Given the description of an element on the screen output the (x, y) to click on. 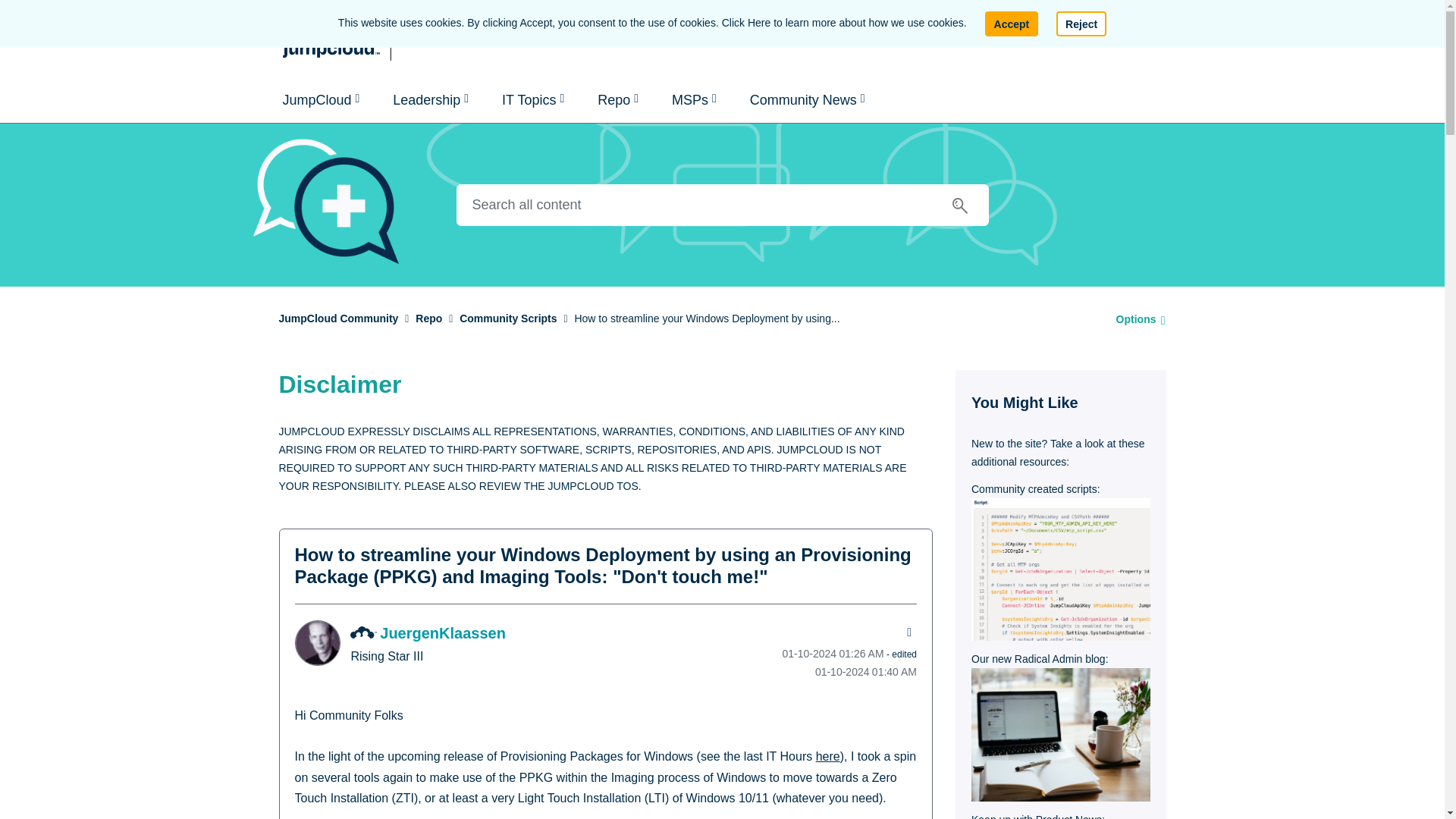
Reject (1081, 23)
JuergenKlaassen (316, 642)
Accept (1012, 23)
JumpCloud Community (378, 37)
MSPs (694, 99)
Show option menu (1136, 318)
Search (722, 205)
Leadership (430, 99)
Help (1114, 38)
JumpCloud (320, 99)
